Given the description of an element on the screen output the (x, y) to click on. 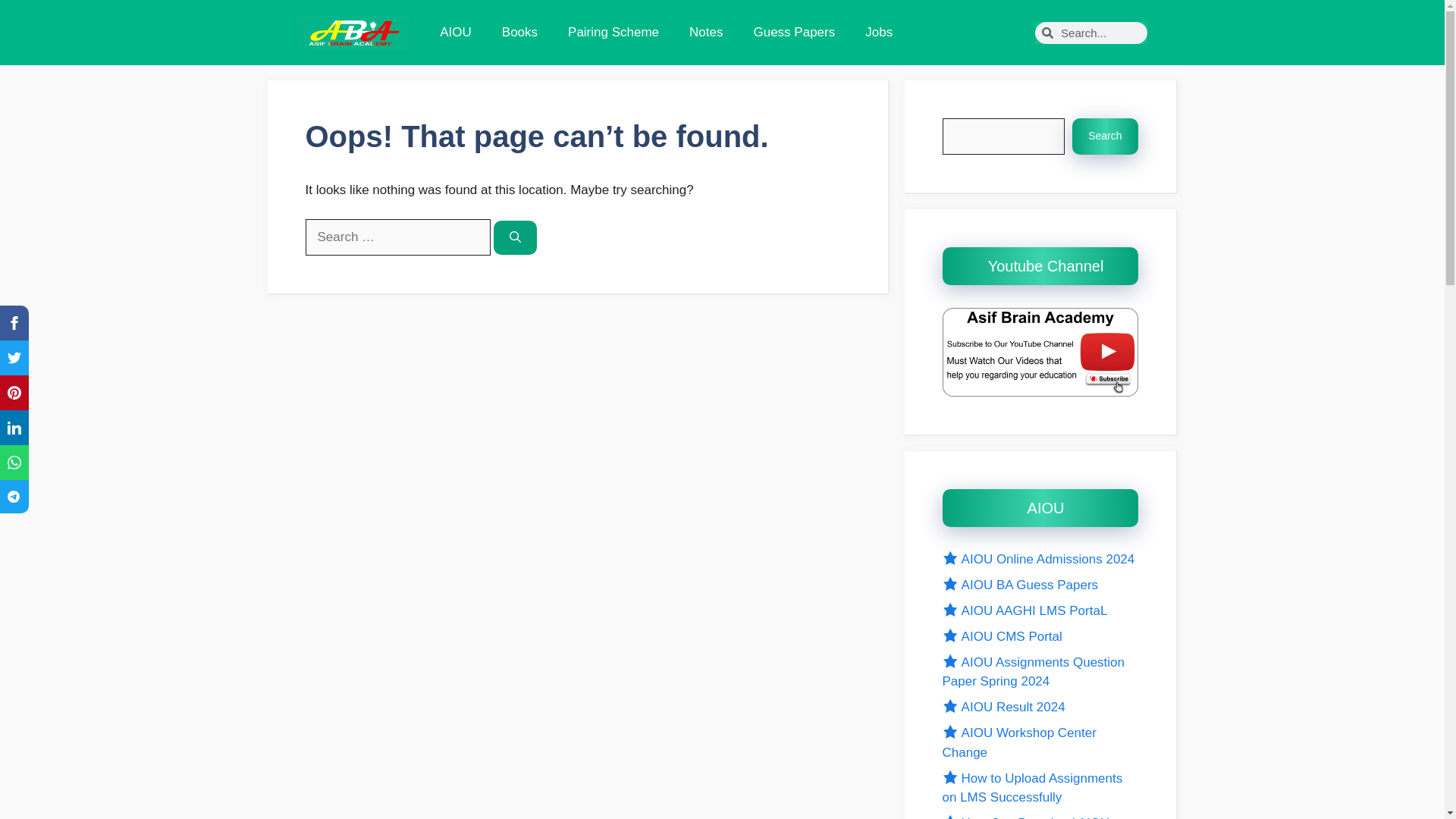
Search for: (396, 237)
Guess Papers (794, 32)
AIOU Result 2024 (1003, 707)
Jobs (878, 32)
How Can Download AIOU Complete Result Using CMS Portal (1025, 817)
How to Upload Assignments on LMS Successfully (1032, 788)
AIOU (455, 32)
AIOU Online Admissions 2024 (1038, 559)
Notes (706, 32)
AIOU BA Guess Papers (1019, 585)
Search (1104, 135)
AIOU CMS Portal (1001, 636)
Pairing Scheme (613, 32)
AIOU Assignments Question Paper Spring 2024 (1033, 672)
AIOU Workshop Center Change (1019, 742)
